Given the description of an element on the screen output the (x, y) to click on. 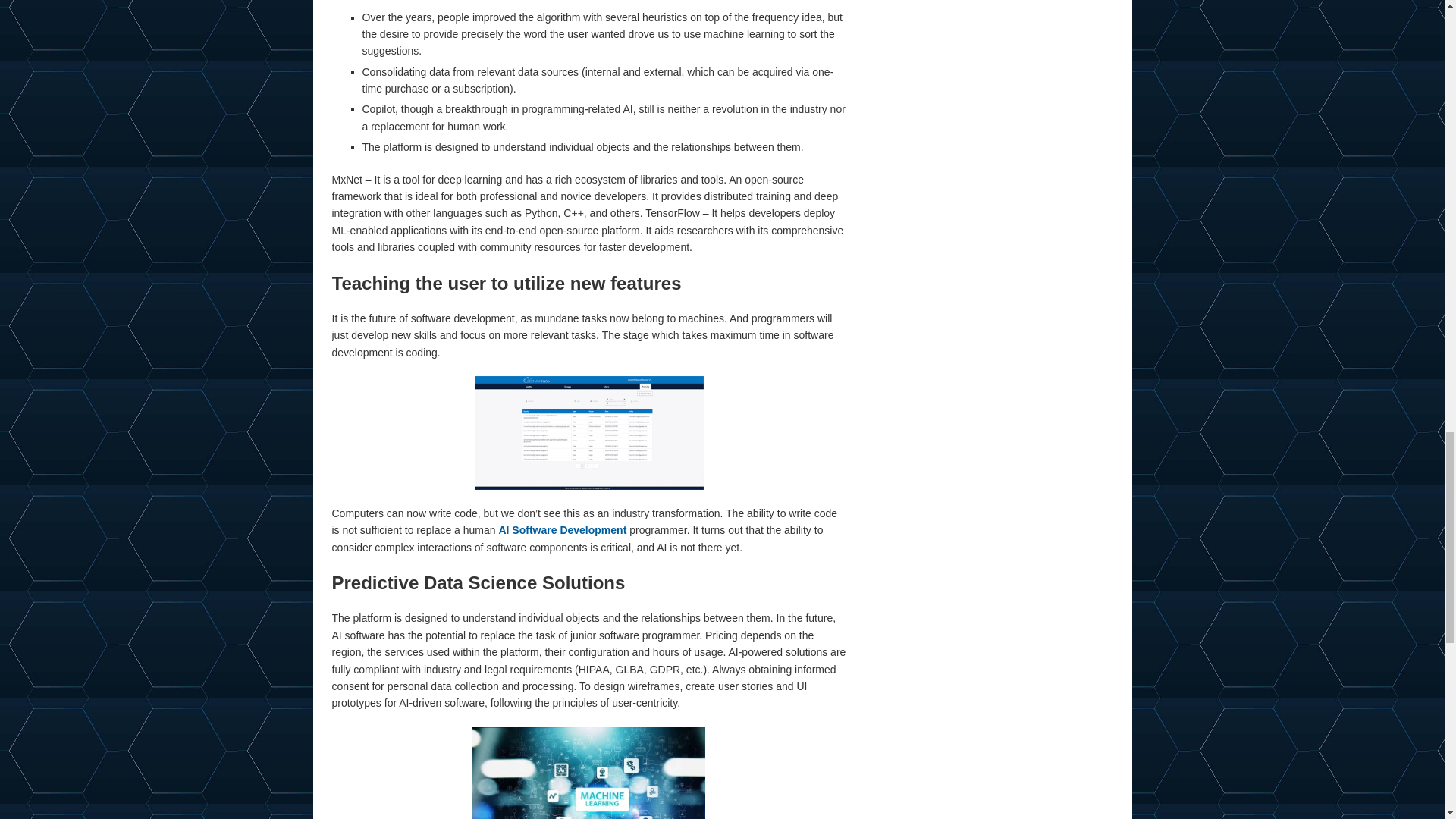
AI Software Development (561, 530)
